Given the description of an element on the screen output the (x, y) to click on. 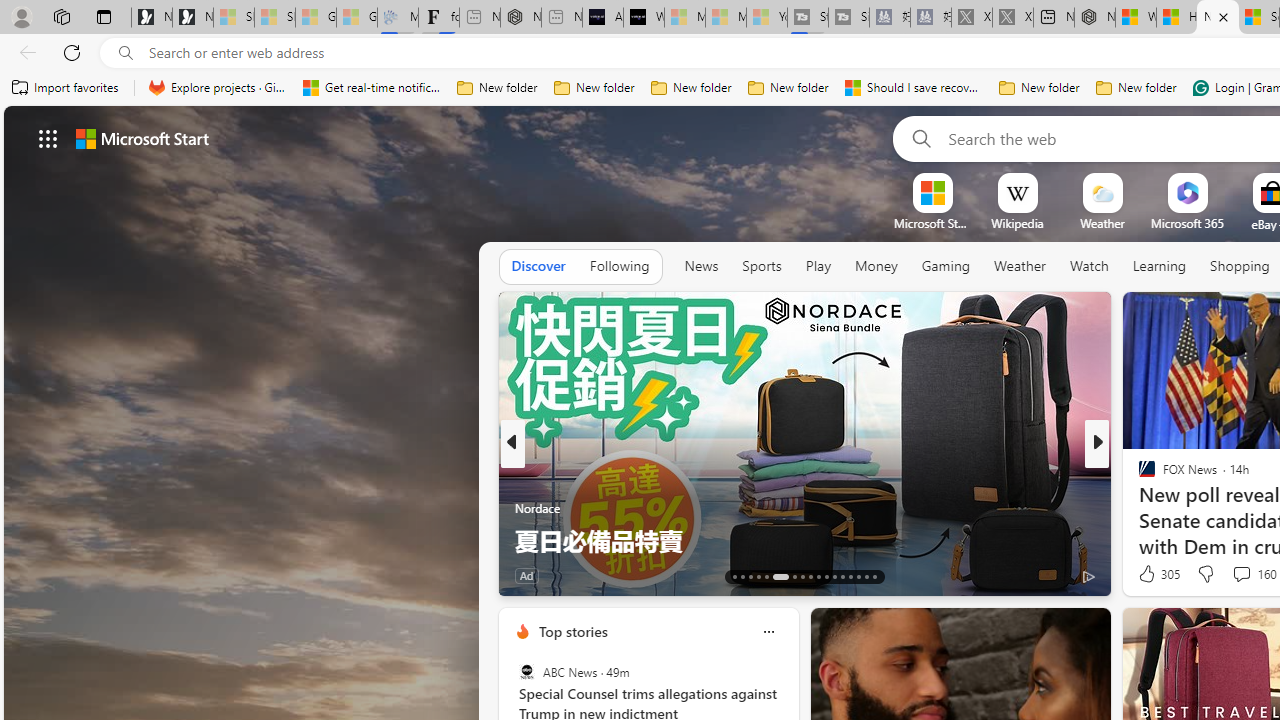
Weather (1019, 267)
Start the conversation (1234, 575)
98 Like (1149, 574)
Ad Choice (1087, 575)
Class: control (47, 138)
View comments 6 Comment (1241, 574)
Kathy Kingsley (1138, 475)
Liron Segev (1138, 507)
Gaming (945, 265)
AutomationID: tab-14 (742, 576)
Newsweek (1138, 475)
Cents + Purpose (1138, 507)
